Given the description of an element on the screen output the (x, y) to click on. 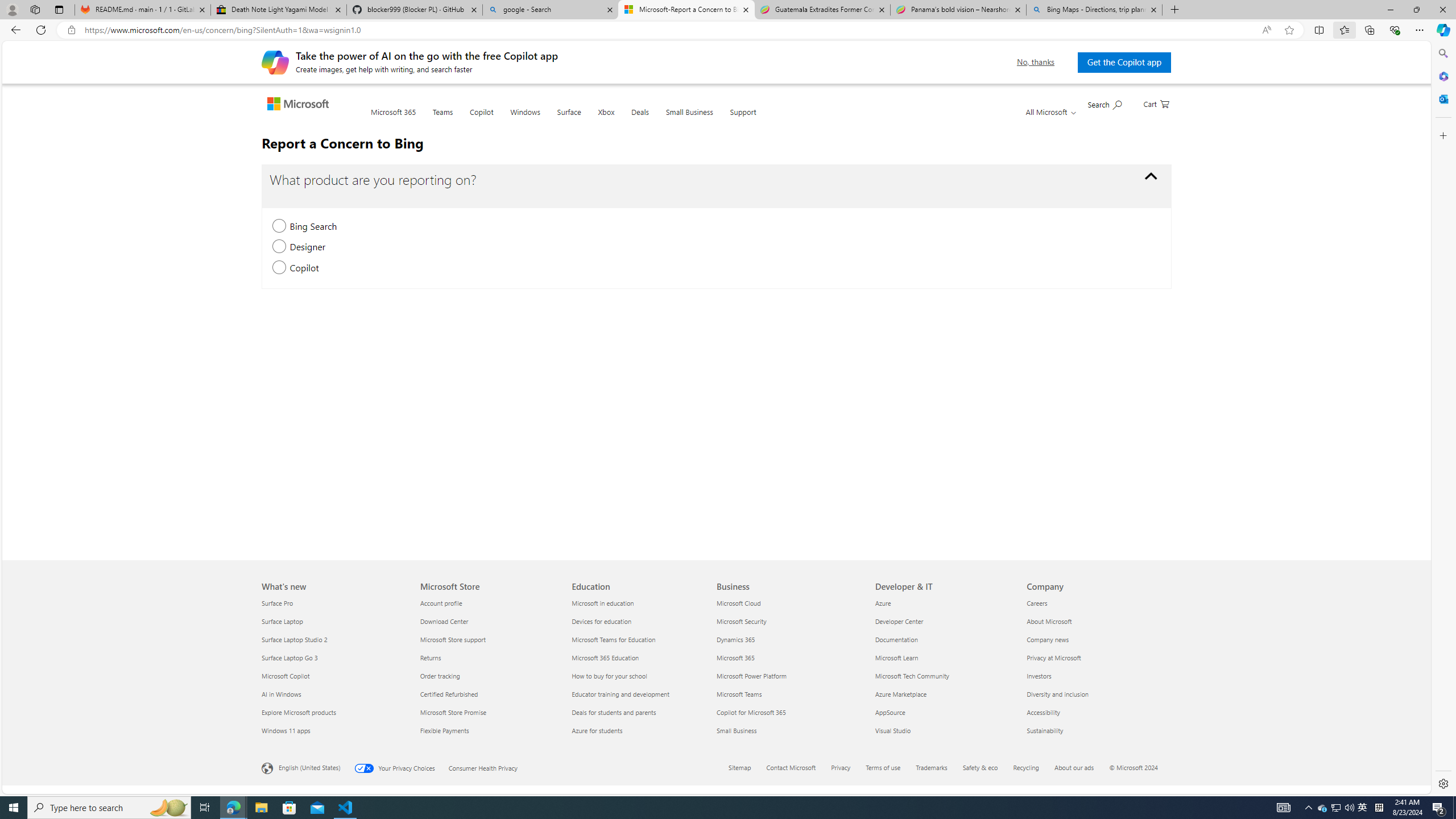
About Microsoft Company (1048, 620)
Sitemap (746, 768)
Surface Pro What's new (278, 602)
Microsoft Security Business (741, 620)
Educator training and development (641, 693)
Deals (640, 118)
Surface Laptop (334, 620)
Returns Microsoft Store (430, 656)
Designer, new section will be expanded (279, 246)
Explore Microsoft products (334, 711)
Dynamics 365 (788, 638)
Get the Copilot app  (1123, 61)
